Given the description of an element on the screen output the (x, y) to click on. 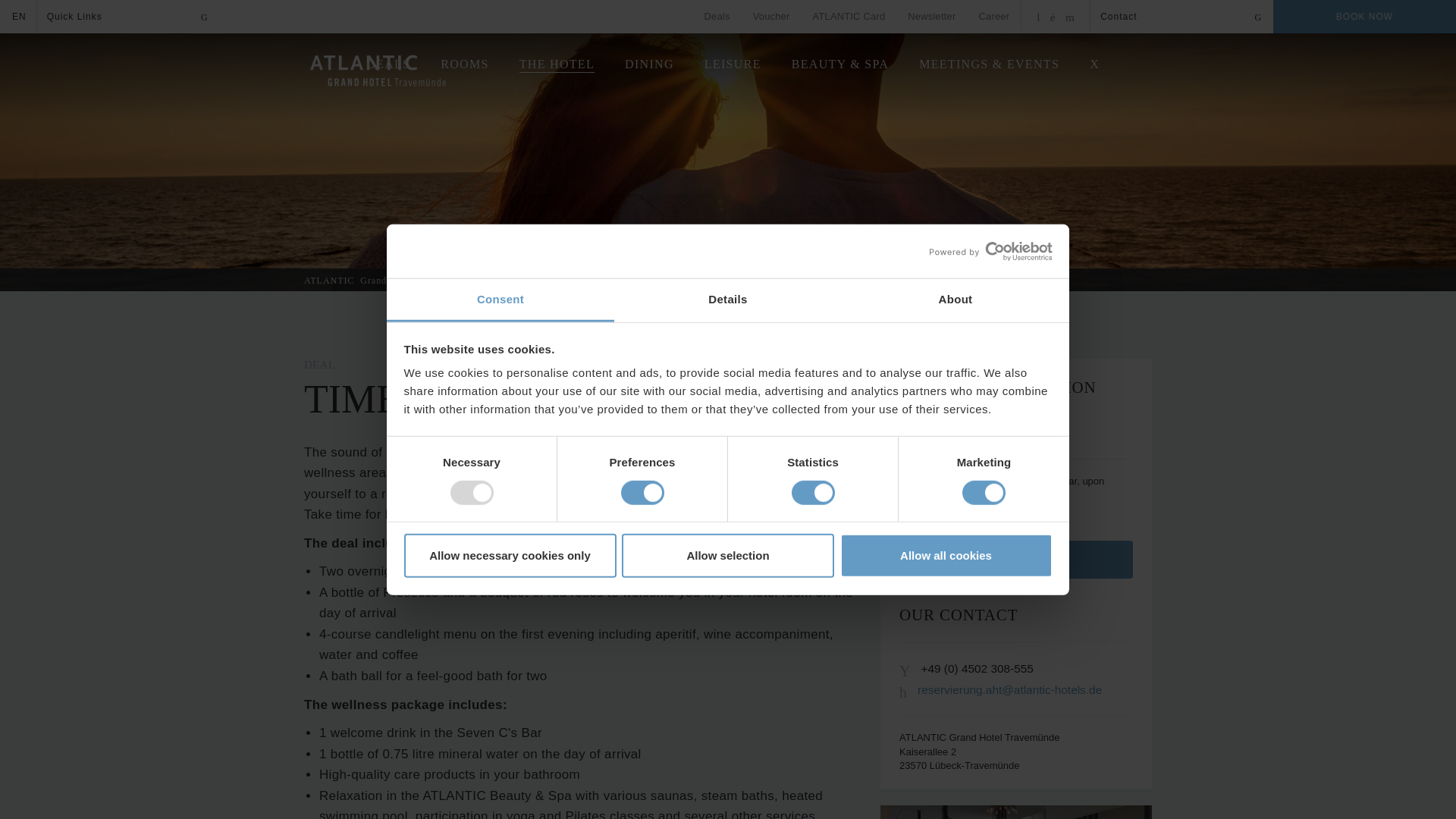
Consent (500, 300)
About (954, 300)
Details (727, 300)
